Given the description of an element on the screen output the (x, y) to click on. 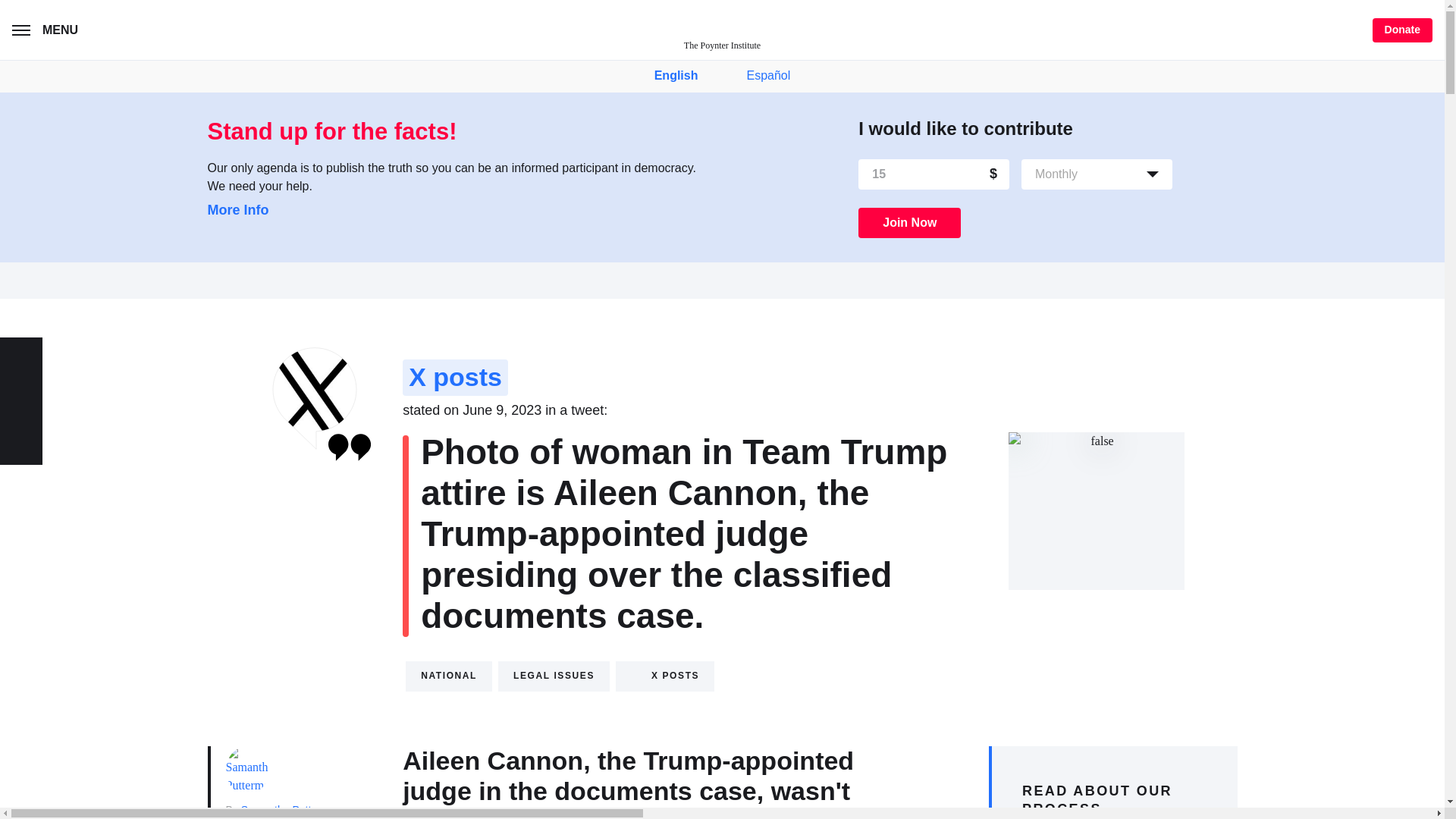
The Poynter Institute (721, 29)
X posts (455, 377)
X posts (664, 675)
National (449, 675)
Donate (1402, 30)
MENU (47, 30)
Search (111, 31)
Legal Issues (553, 675)
